Given the description of an element on the screen output the (x, y) to click on. 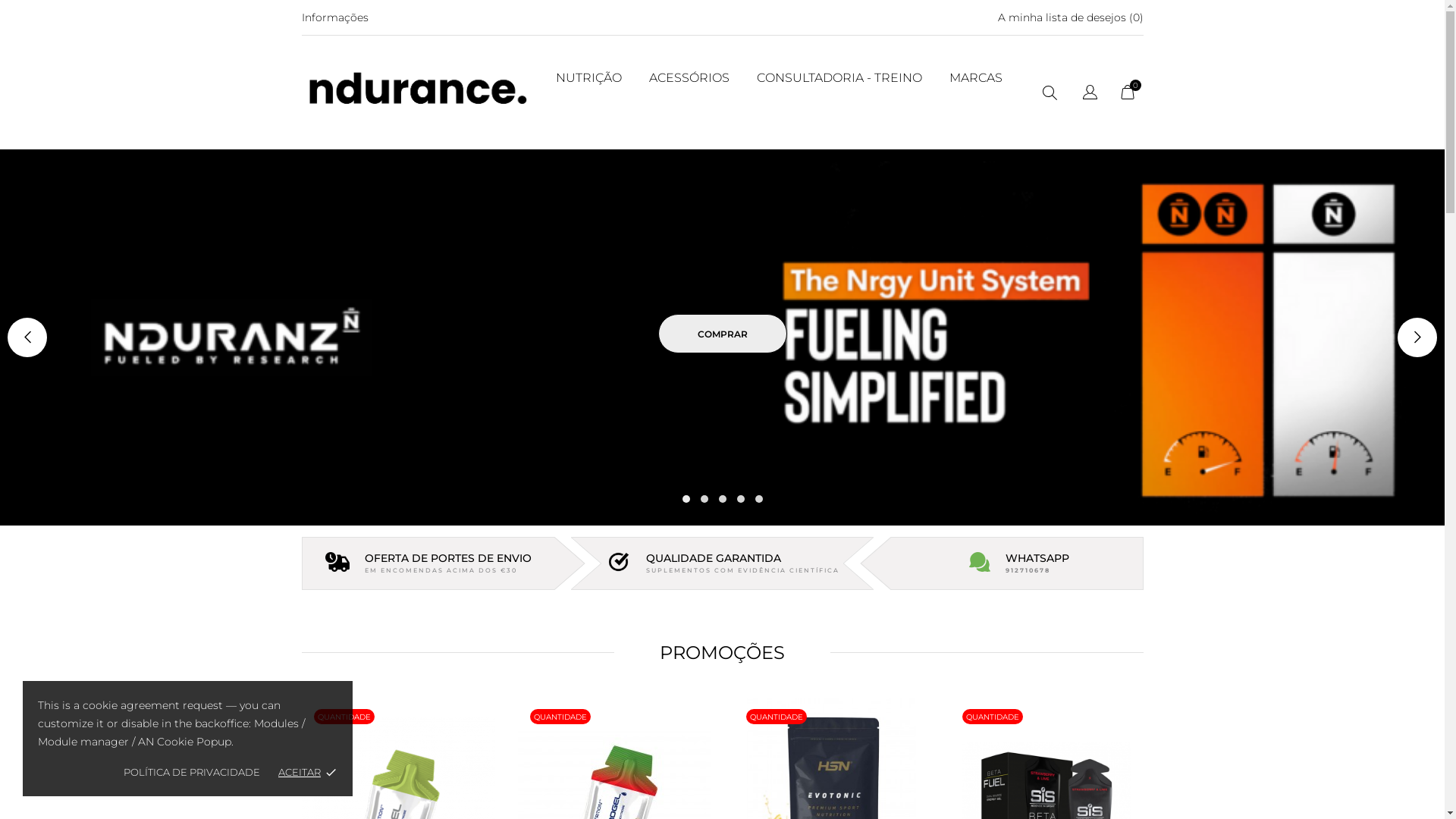
MARCAS Element type: text (975, 76)
CONSULTADORIA - TREINO Element type: text (839, 76)
WHATSAPP
912710678 Element type: text (1016, 562)
0 Element type: text (1127, 94)
A minha lista de desejos (0) Element type: text (1070, 17)
COMPRAR Element type: text (722, 337)
COMPRAR Element type: text (722, 333)
